Given the description of an element on the screen output the (x, y) to click on. 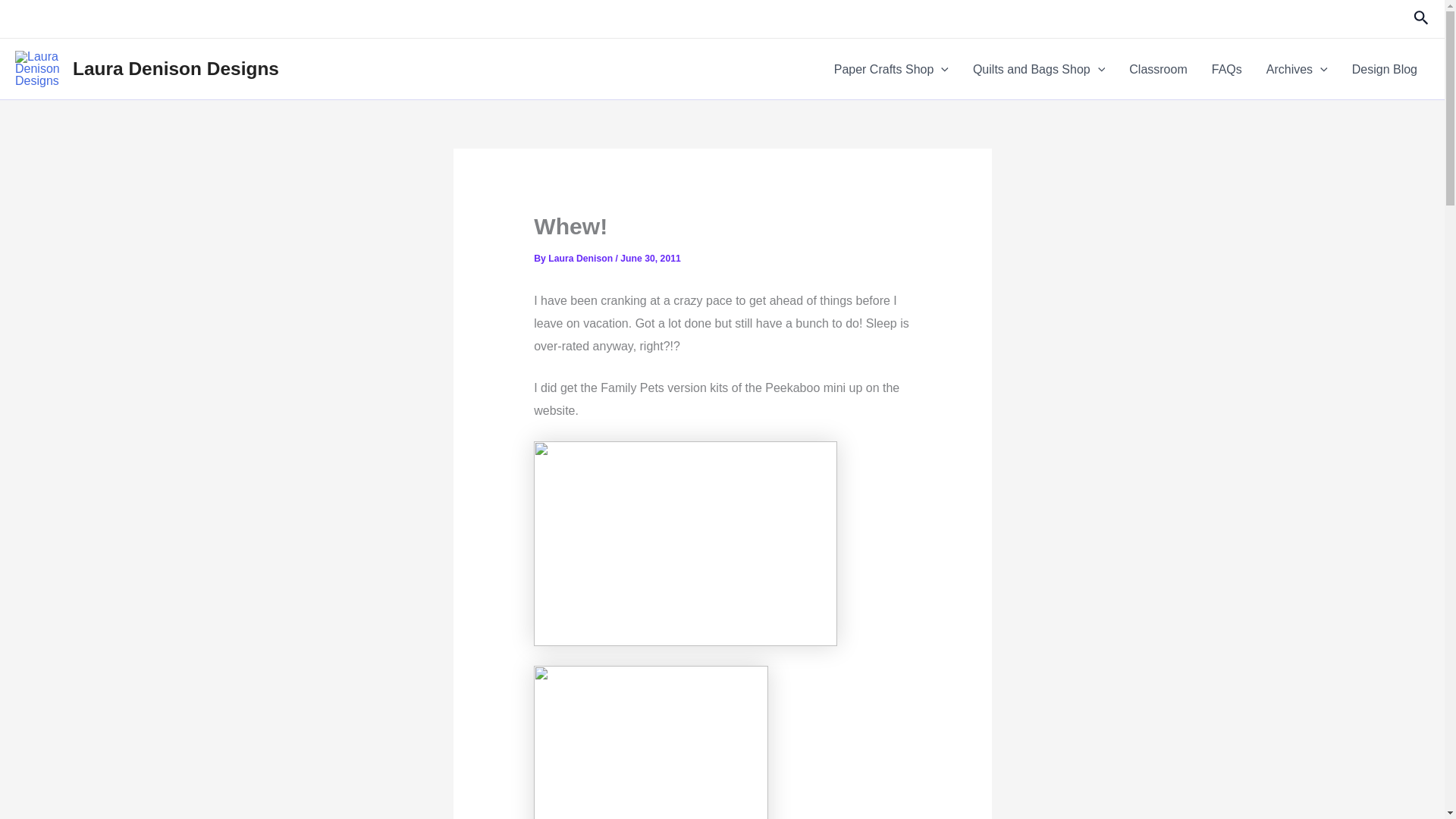
Archives (1296, 69)
Classroom (1157, 69)
FAQs (1226, 69)
Laura Denison Designs (175, 68)
View all posts by Laura Denison (581, 258)
Paper Crafts Shop (891, 69)
Design Blog (1384, 69)
Quilts and Bags Shop (1038, 69)
